Given the description of an element on the screen output the (x, y) to click on. 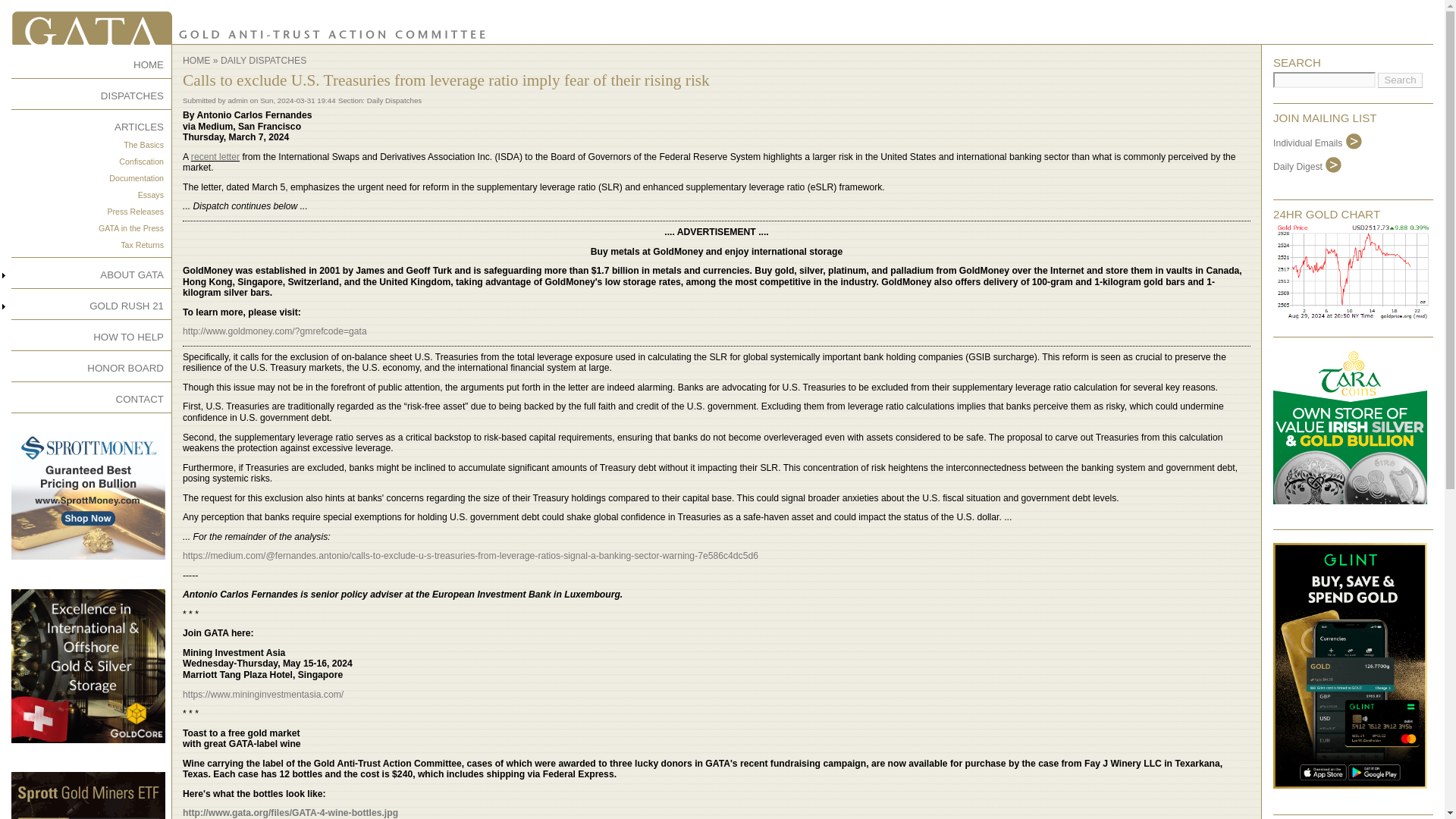
GOLD RUSH 21 (125, 306)
recent letter (215, 156)
GATA in the Press (131, 227)
ARTICLES (139, 126)
HOW TO HELP (128, 337)
DISPATCHES (131, 95)
Enter the terms you wish to search for. (1323, 79)
Tax Returns (141, 244)
Press Releases (134, 211)
